Given the description of an element on the screen output the (x, y) to click on. 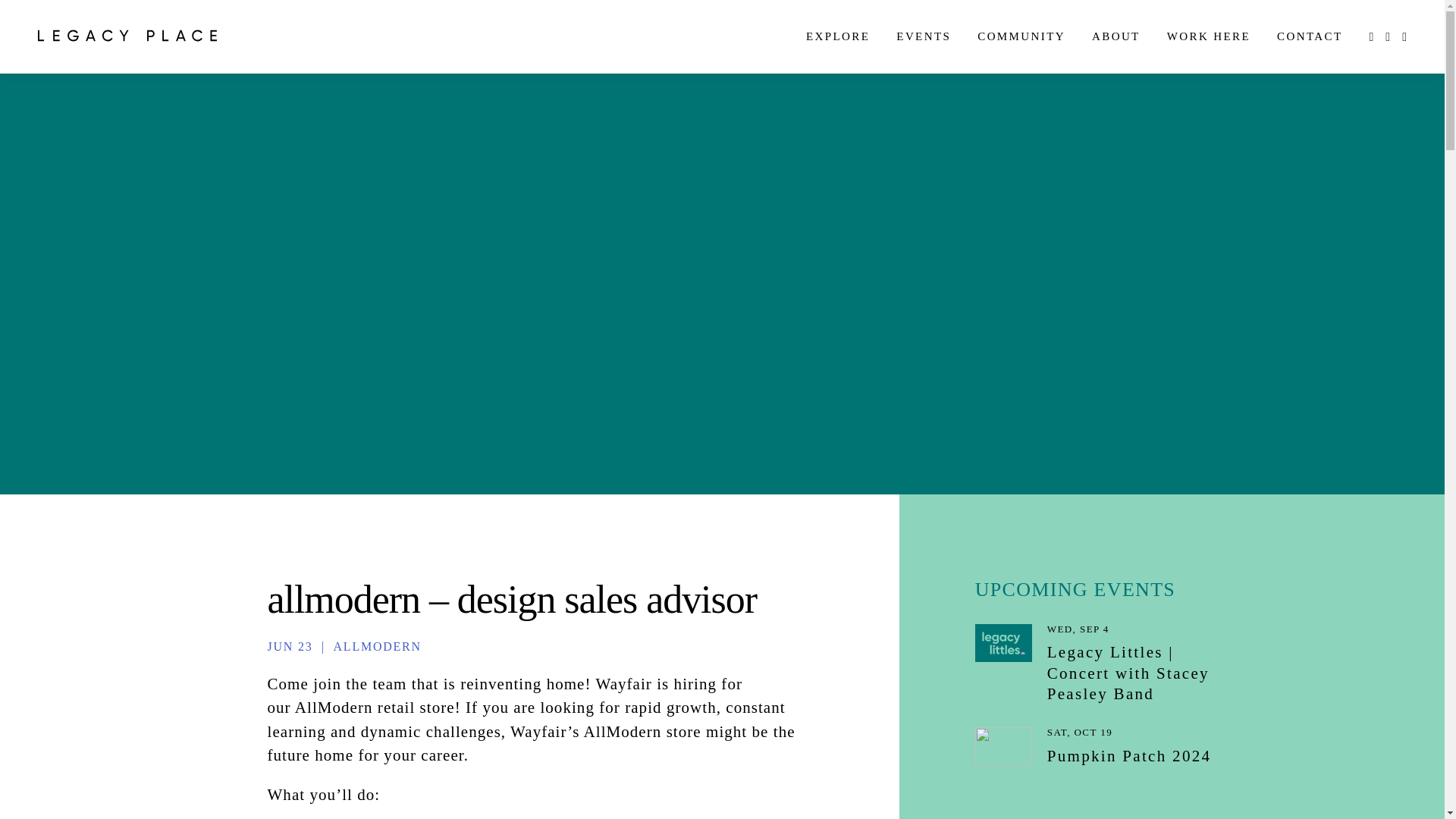
ABOUT (1116, 36)
ALLMODERN (377, 645)
COMMUNITY (1020, 36)
EVENTS (923, 36)
EXPLORE (837, 36)
CONTACT (1309, 36)
WORK HERE (1208, 36)
